Given the description of an element on the screen output the (x, y) to click on. 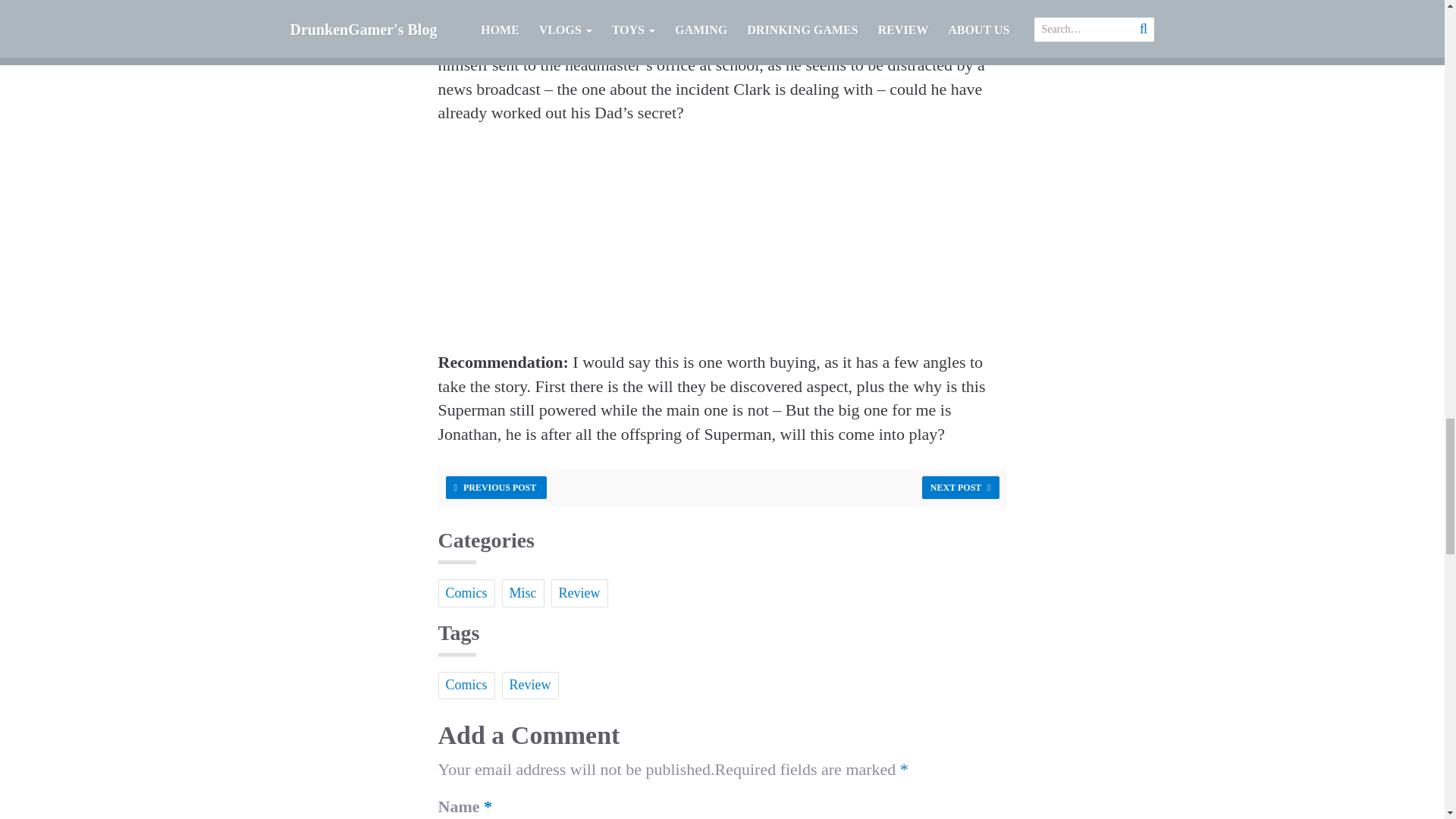
Comics (466, 685)
PREVIOUS POST (496, 486)
Review (530, 685)
NEXT POST (959, 486)
Review (579, 593)
Misc (523, 593)
Comics (466, 593)
Advertisement (722, 244)
